Given the description of an element on the screen output the (x, y) to click on. 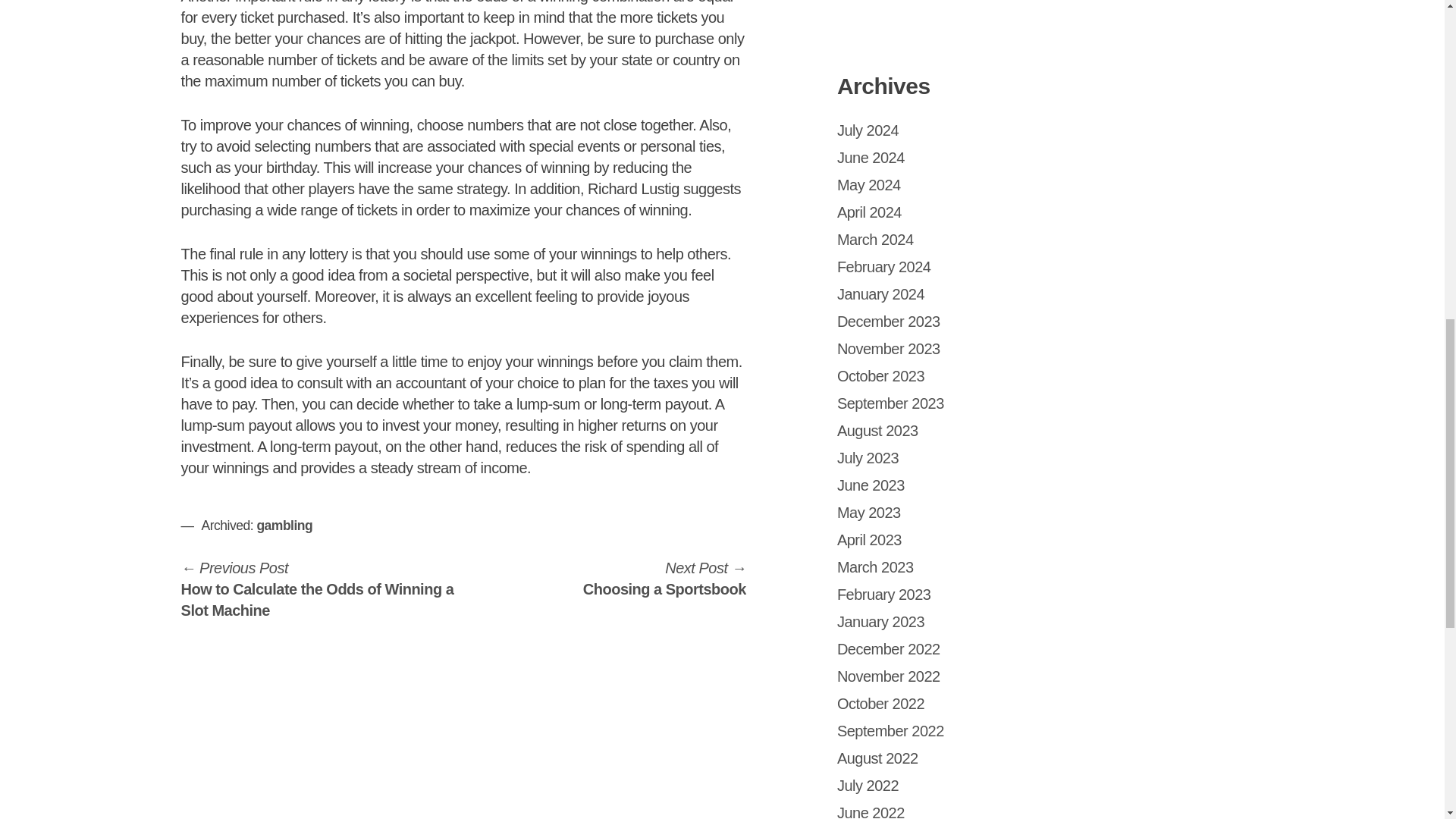
August 2022 (877, 758)
February 2023 (884, 594)
April 2024 (869, 211)
May 2024 (664, 578)
July 2024 (869, 184)
December 2022 (867, 130)
October 2022 (888, 648)
September 2023 (880, 703)
December 2023 (890, 402)
June 2023 (888, 321)
April 2023 (870, 484)
March 2024 (869, 539)
July 2022 (875, 239)
